Given the description of an element on the screen output the (x, y) to click on. 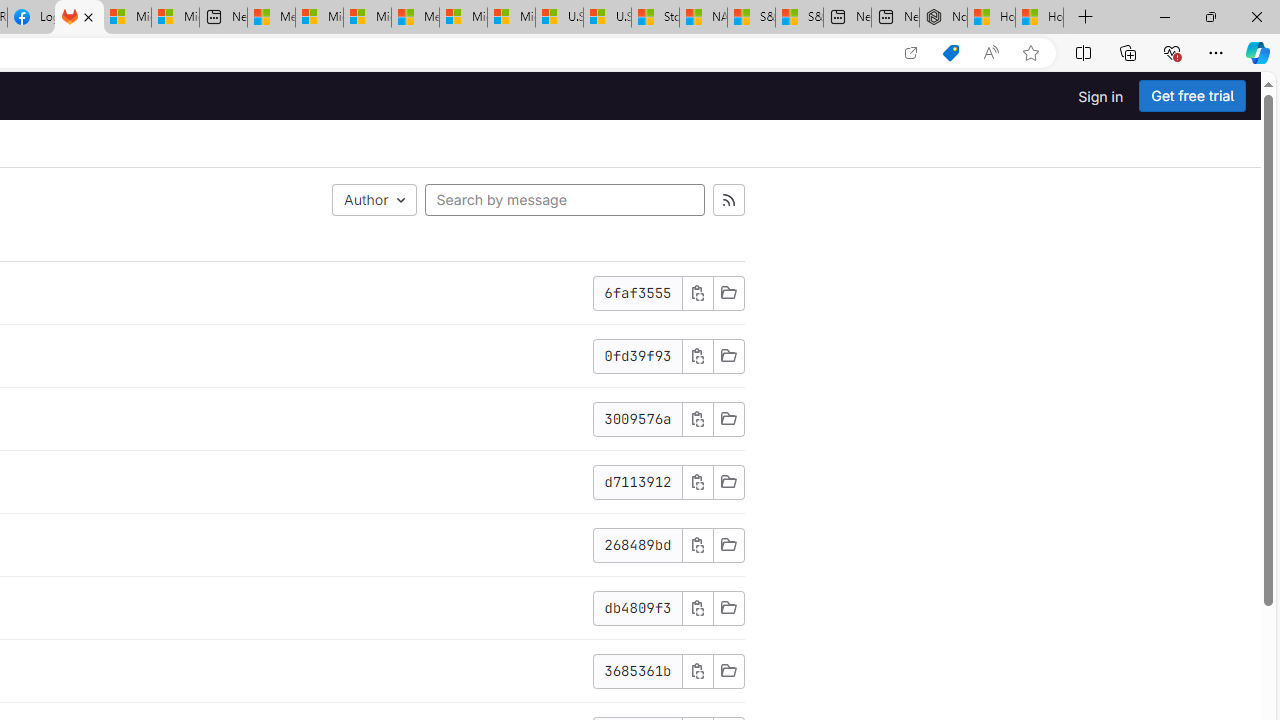
Microsoft account | Home (367, 17)
Copy commit SHA (697, 607)
Sign in (1100, 95)
Open in app (910, 53)
Commits feed (727, 200)
